Given the description of an element on the screen output the (x, y) to click on. 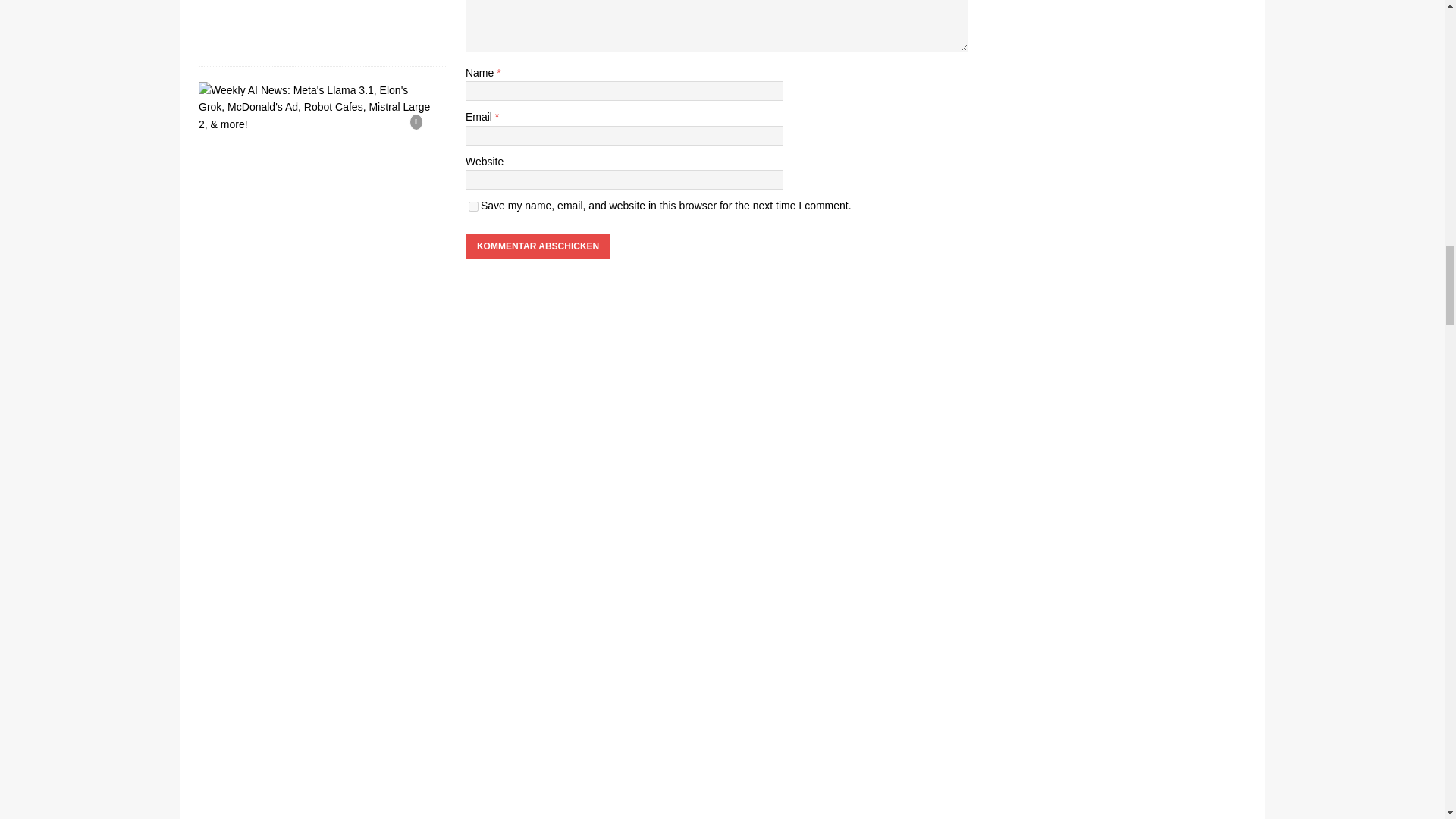
yes (473, 206)
Kommentar abschicken (537, 246)
